Given the description of an element on the screen output the (x, y) to click on. 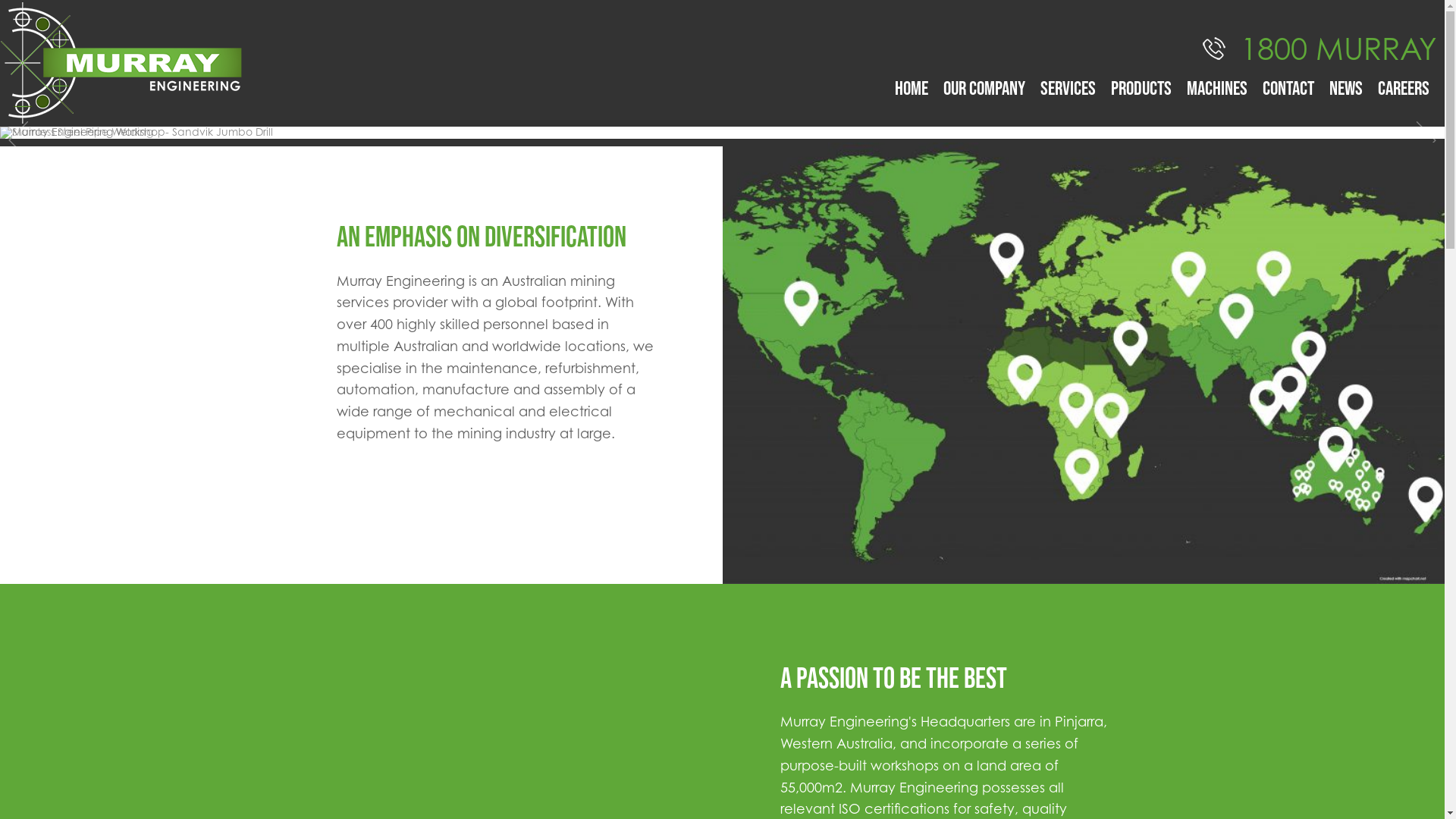
Home Element type: text (911, 87)
Careers Element type: text (1403, 87)
Murray Engineering Element type: text (288, 63)
1800 MURRAY Element type: text (1319, 47)
Our Company Element type: text (983, 87)
Products Element type: text (1141, 87)
Services Element type: text (1067, 87)
Contact Element type: text (1288, 87)
News Element type: text (1345, 87)
Machines Element type: text (1217, 87)
